Given the description of an element on the screen output the (x, y) to click on. 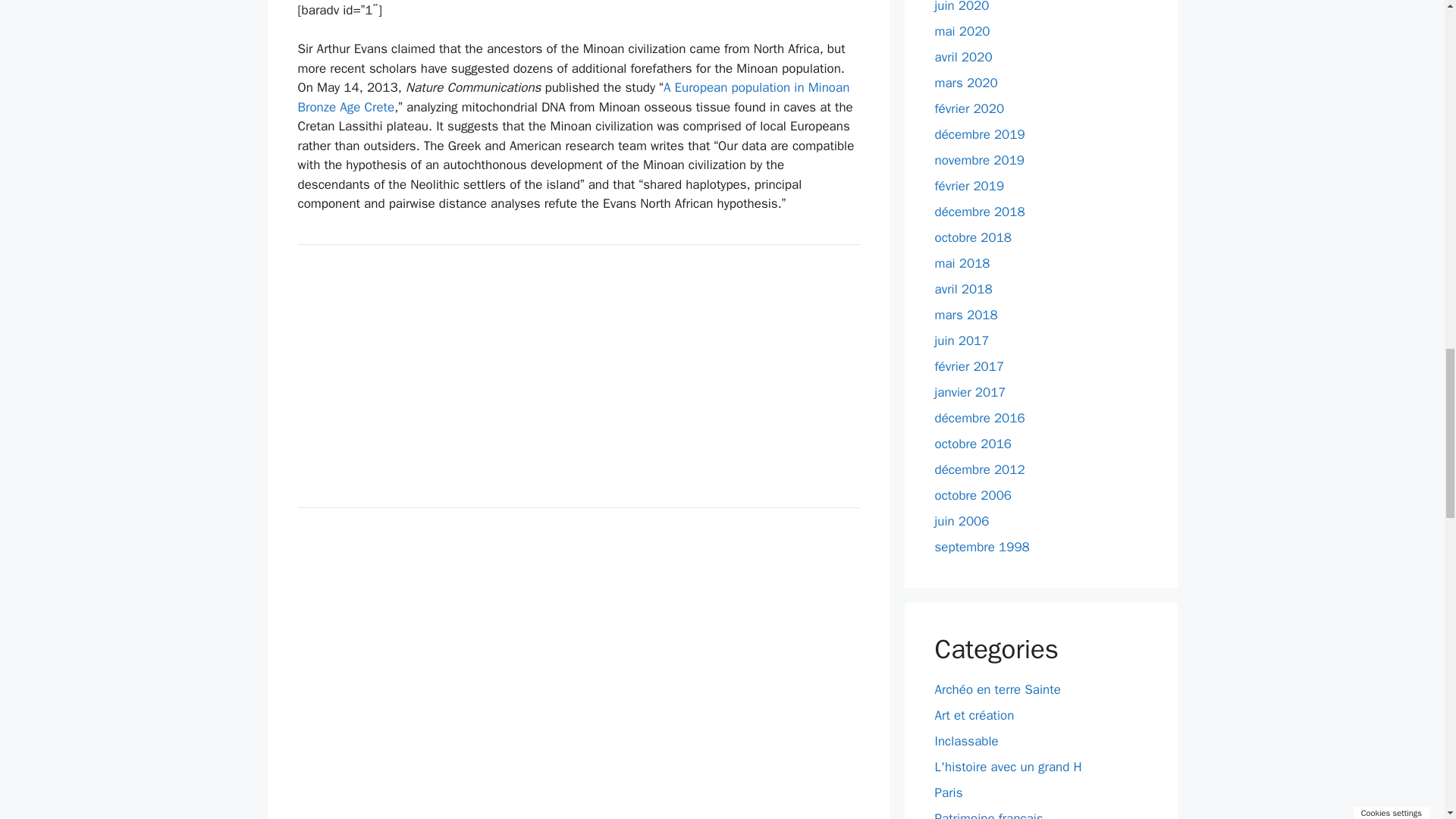
A European population in Minoan Bronze Age Crete (572, 97)
